Given the description of an element on the screen output the (x, y) to click on. 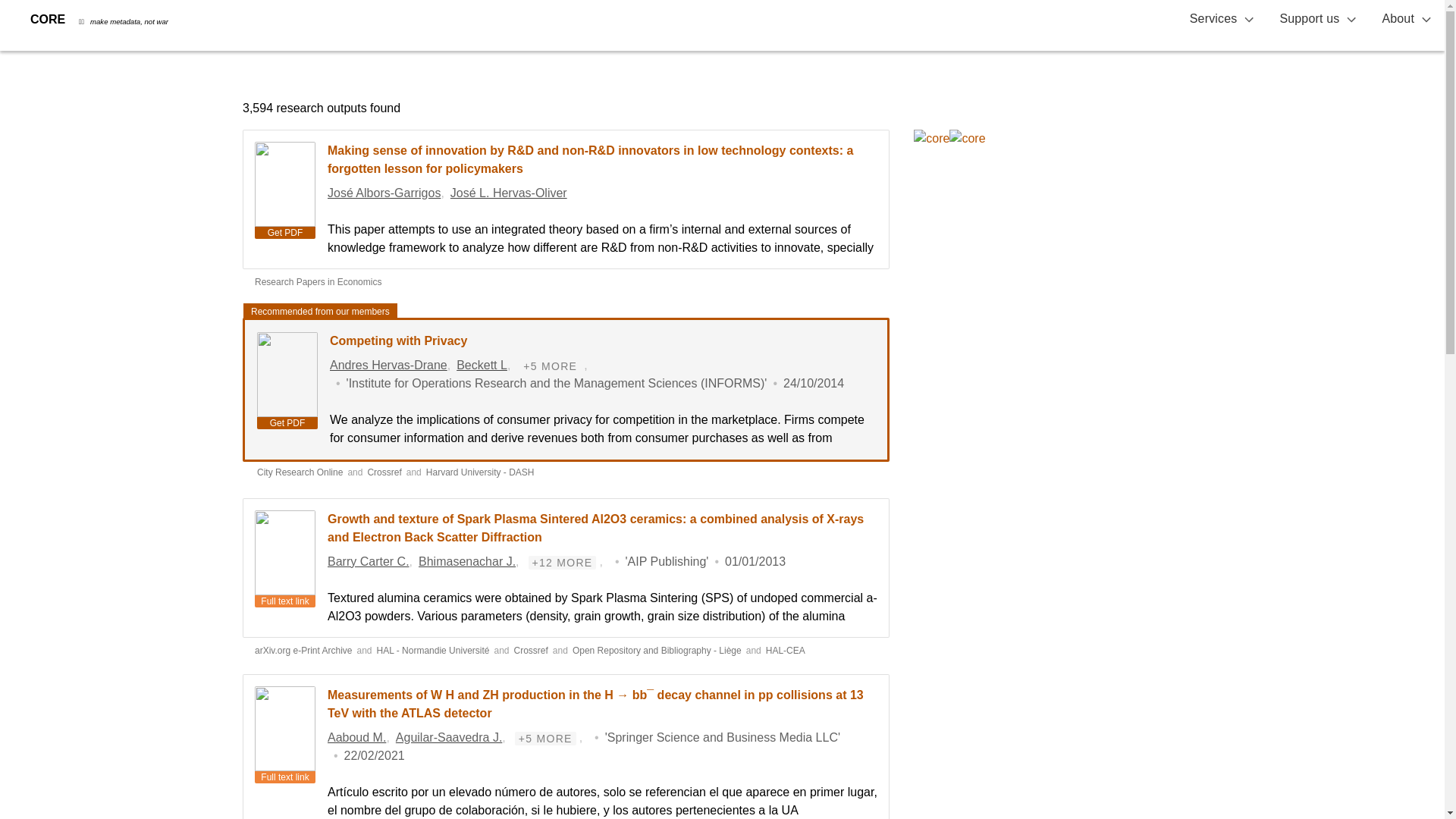
Show more (545, 738)
Services (1222, 19)
Show more (562, 562)
Andres Hervas-Drane (388, 364)
Show more (549, 366)
Support us (1318, 19)
Beckett L (481, 364)
Research Papers in Economics (317, 281)
Competing with Privacy (398, 340)
